Given the description of an element on the screen output the (x, y) to click on. 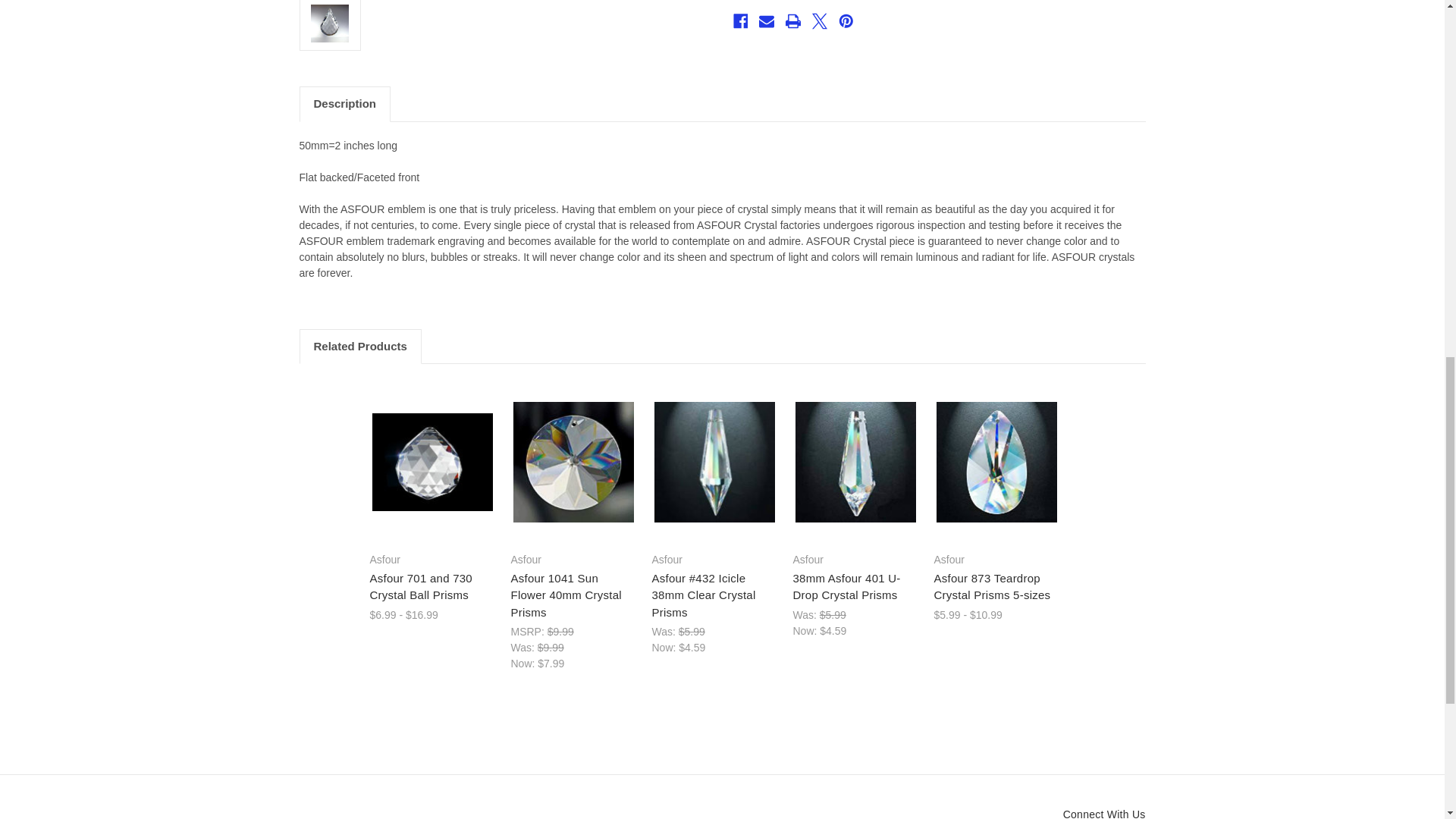
Asfour 1041 Sun Flower 40mm Crystal Prisms (572, 462)
38mm Asfour 401 U-Drop Crystal Prisms (854, 462)
Asfour 873 Teardrop Crystal Prisms 5-sizes (996, 462)
Asfour 701 and 730 Crystal Ball Prisms (431, 462)
